Given the description of an element on the screen output the (x, y) to click on. 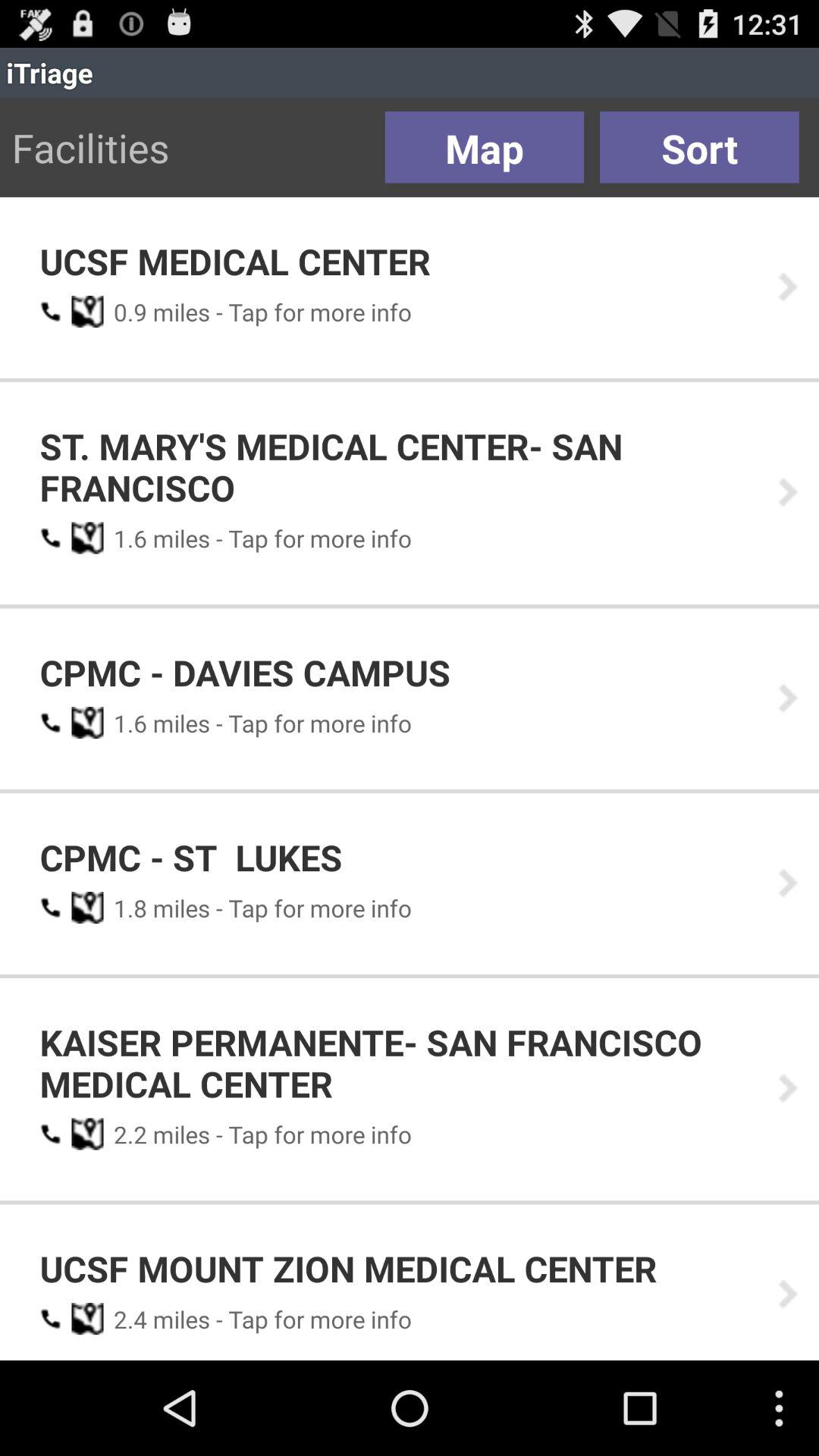
open the item below the 1.8 icon (398, 1062)
